Given the description of an element on the screen output the (x, y) to click on. 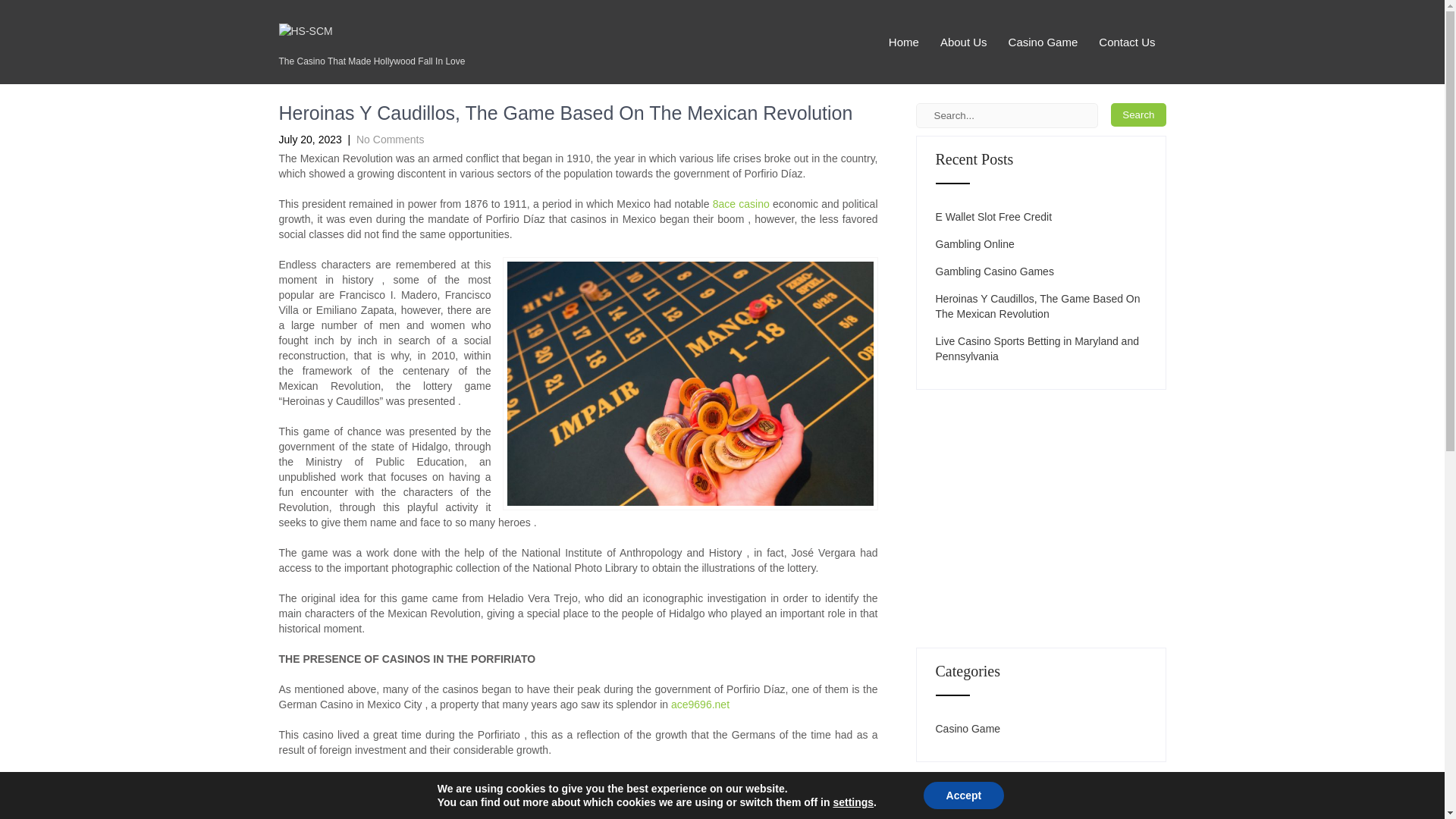
Accept (963, 795)
The Casino That Made Hollywood Fall In Love (372, 53)
Home (903, 42)
8ace casino (741, 203)
Live Casino Sports Betting in Maryland and Pennsylvania (1041, 348)
ace9696.net (700, 704)
Casino Game (968, 728)
E Wallet Slot Free Credit (994, 216)
Gambling Casino Games (995, 271)
